Given the description of an element on the screen output the (x, y) to click on. 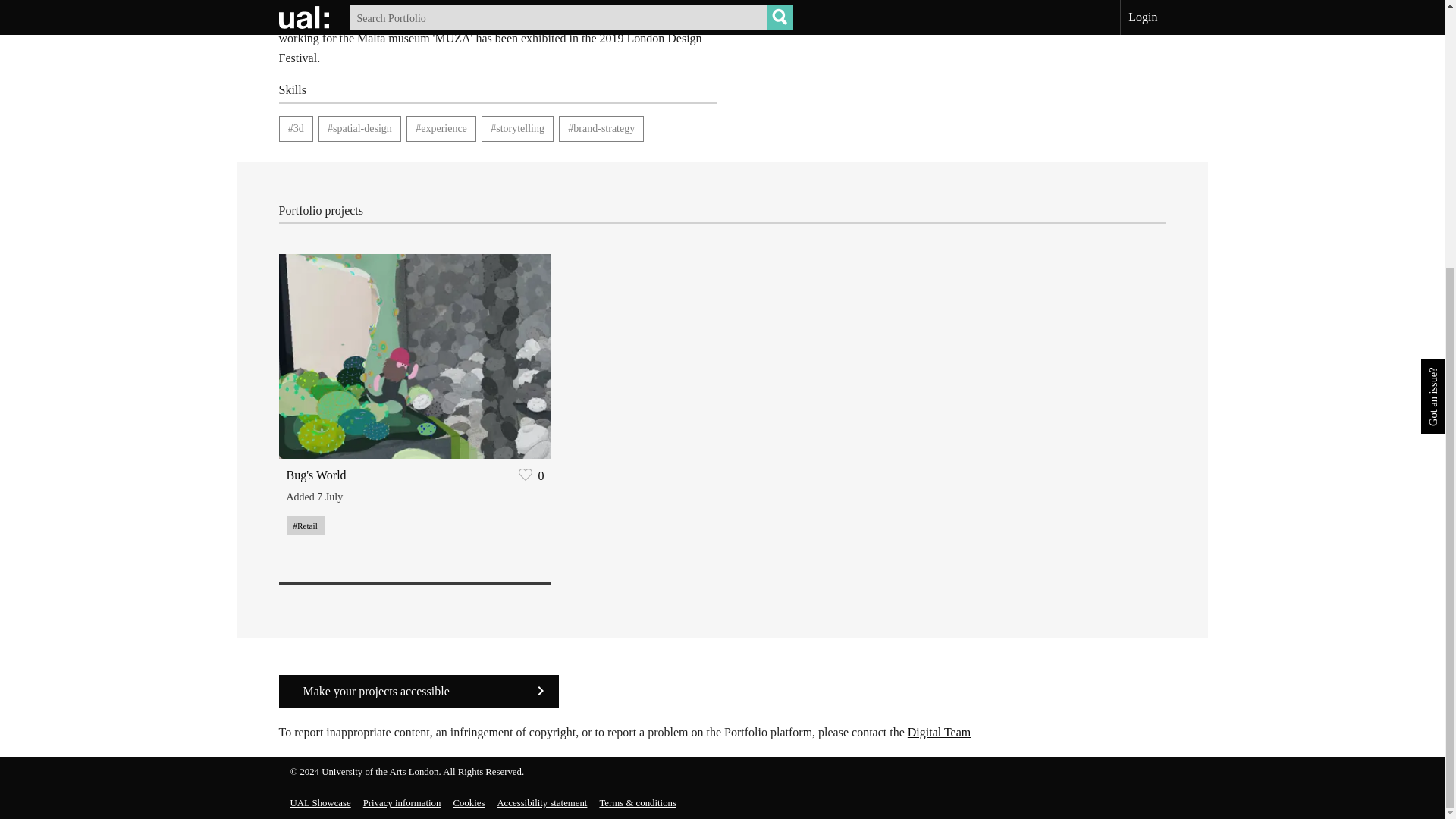
UAL Showcase (319, 802)
Bug's World (316, 474)
Digital Team (939, 731)
0 (529, 475)
Accessibility statement (541, 802)
Make your projects accessible (419, 690)
Privacy information (401, 802)
Cookies (468, 802)
